Given the description of an element on the screen output the (x, y) to click on. 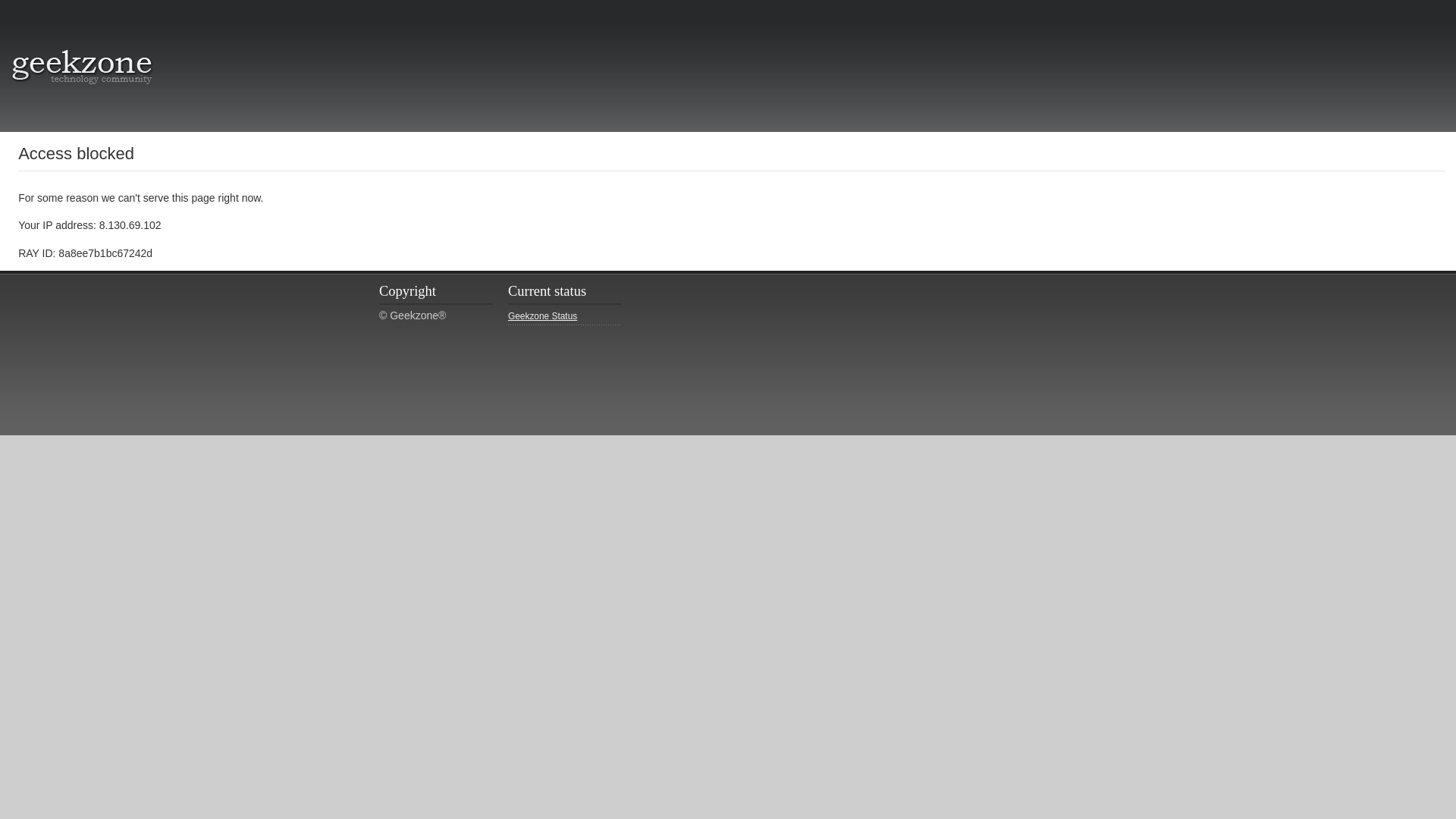
Geekzone Status (564, 316)
